Given the description of an element on the screen output the (x, y) to click on. 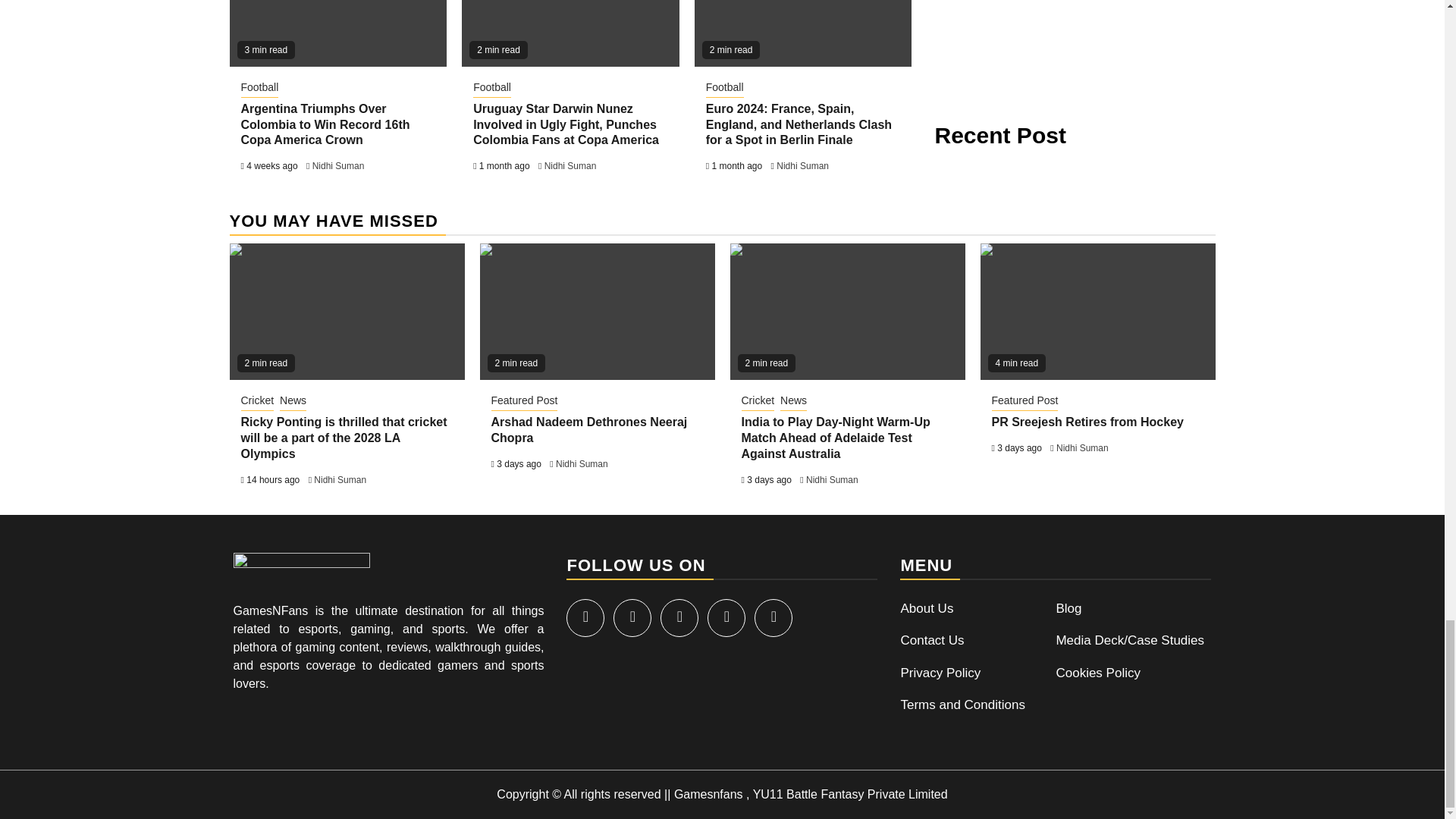
Nidhi Suman (339, 165)
Football (725, 88)
Football (492, 88)
Football (260, 88)
Nidhi Suman (570, 165)
